Given the description of an element on the screen output the (x, y) to click on. 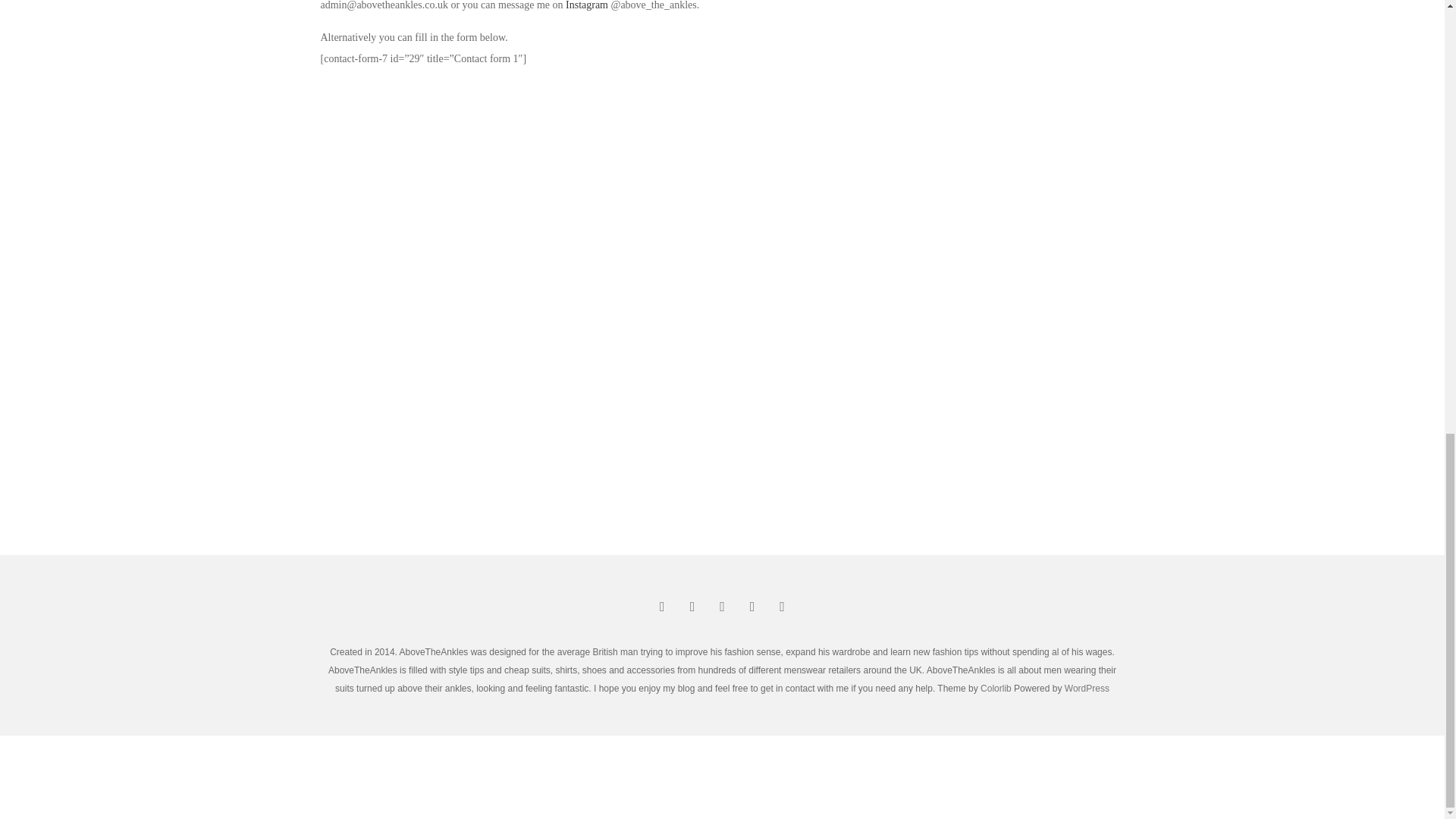
Instagram (587, 5)
Colorlib (995, 688)
WordPress (1086, 688)
Advertisement (721, 776)
